Given the description of an element on the screen output the (x, y) to click on. 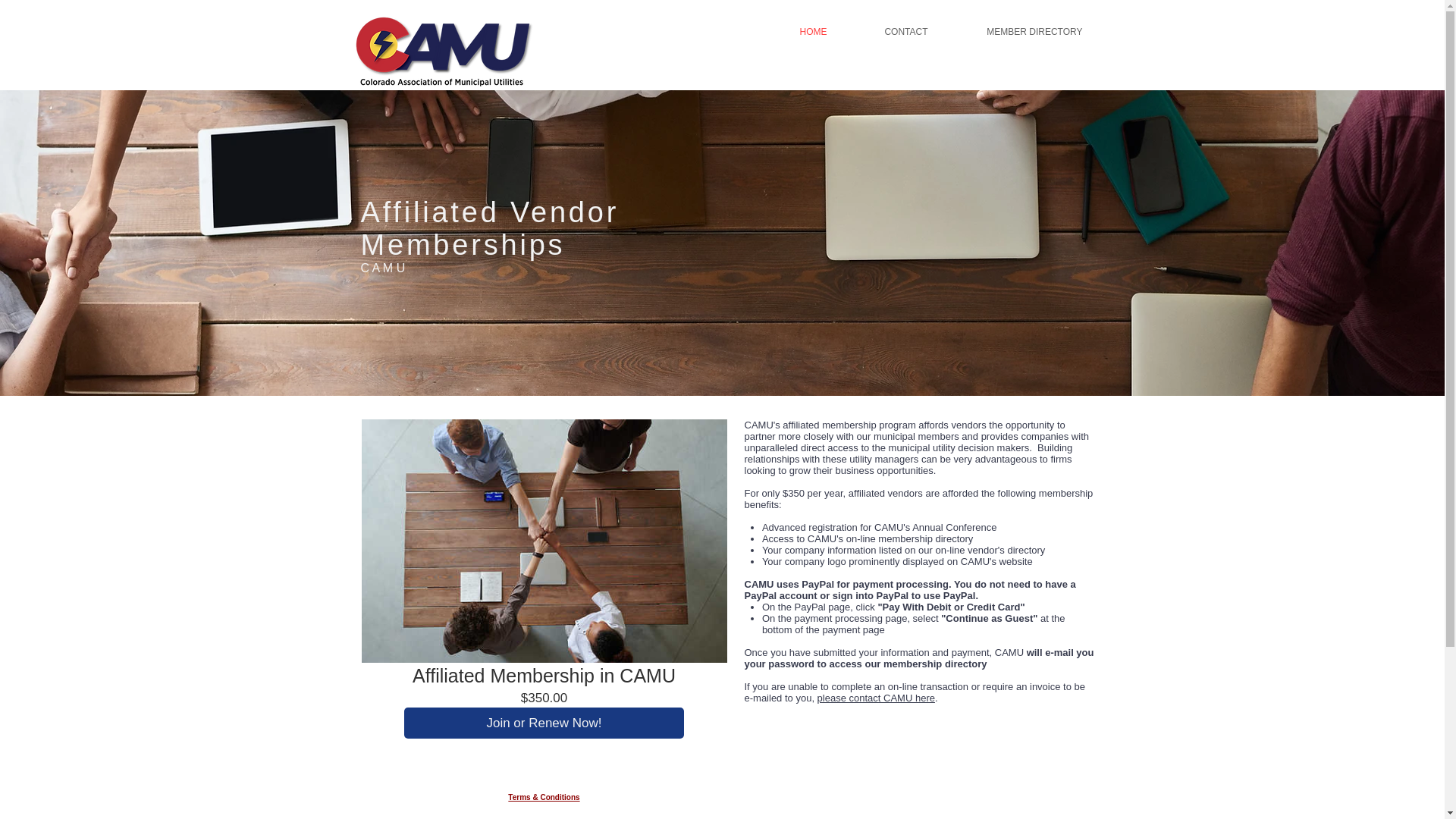
CONTACT (888, 32)
Join or Renew Now! (544, 722)
MEMBER DIRECTORY (1016, 32)
please contact CAMU here (875, 697)
HOME (796, 32)
